Given the description of an element on the screen output the (x, y) to click on. 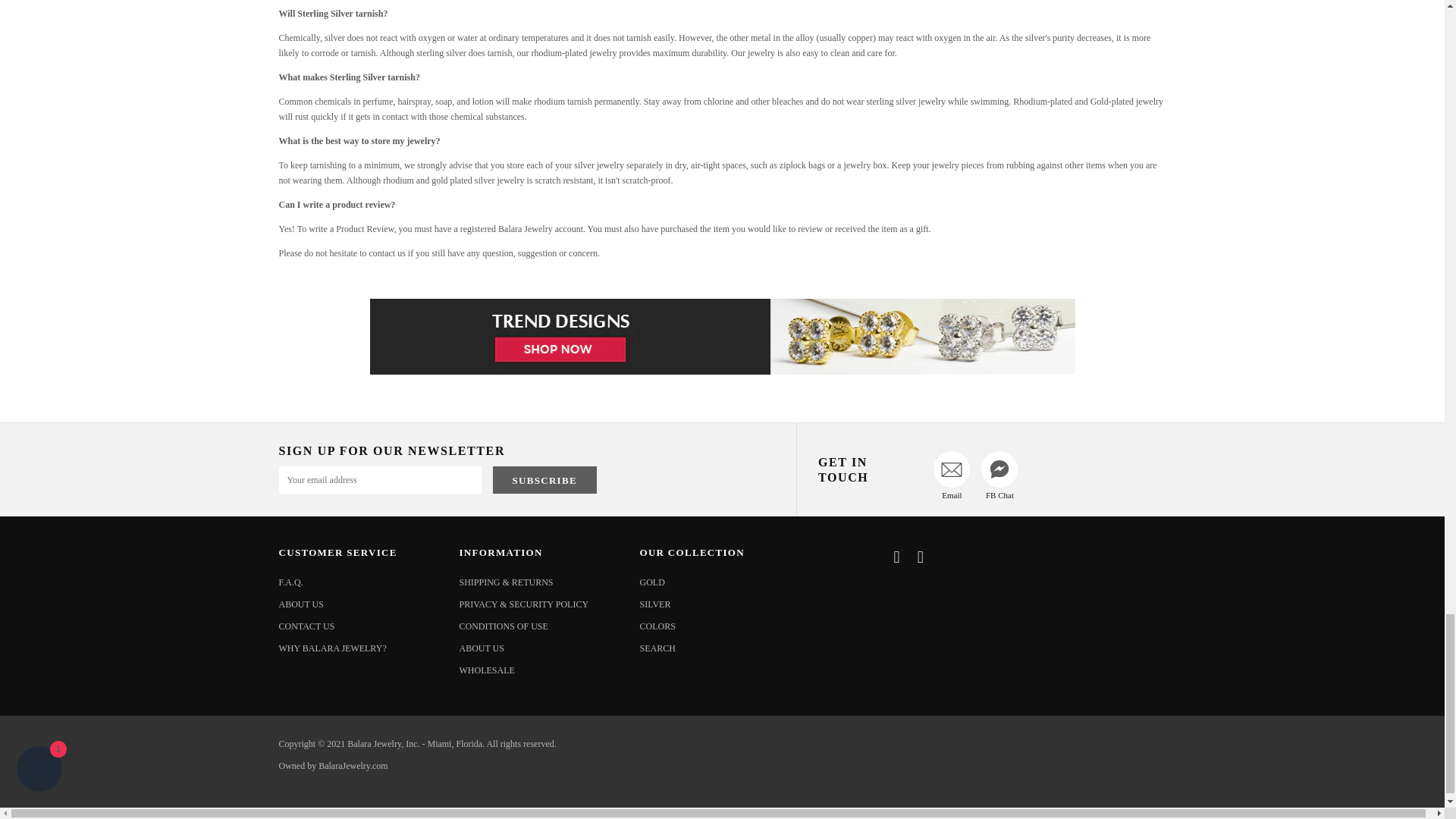
Subscribe (544, 479)
Diamond Forever (722, 336)
